Given the description of an element on the screen output the (x, y) to click on. 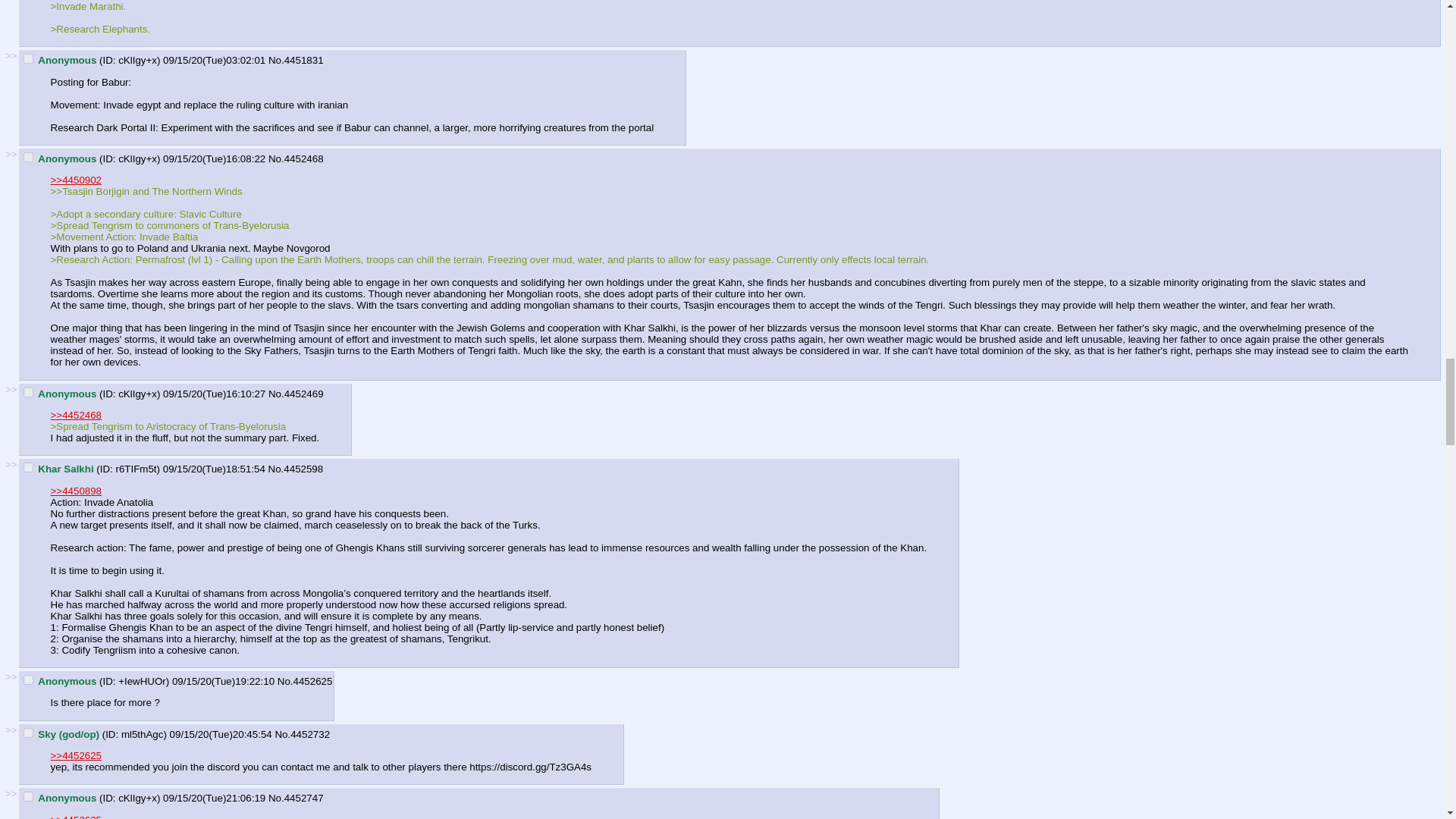
delete (28, 157)
delete (28, 467)
delete (28, 392)
delete (28, 58)
